Given the description of an element on the screen output the (x, y) to click on. 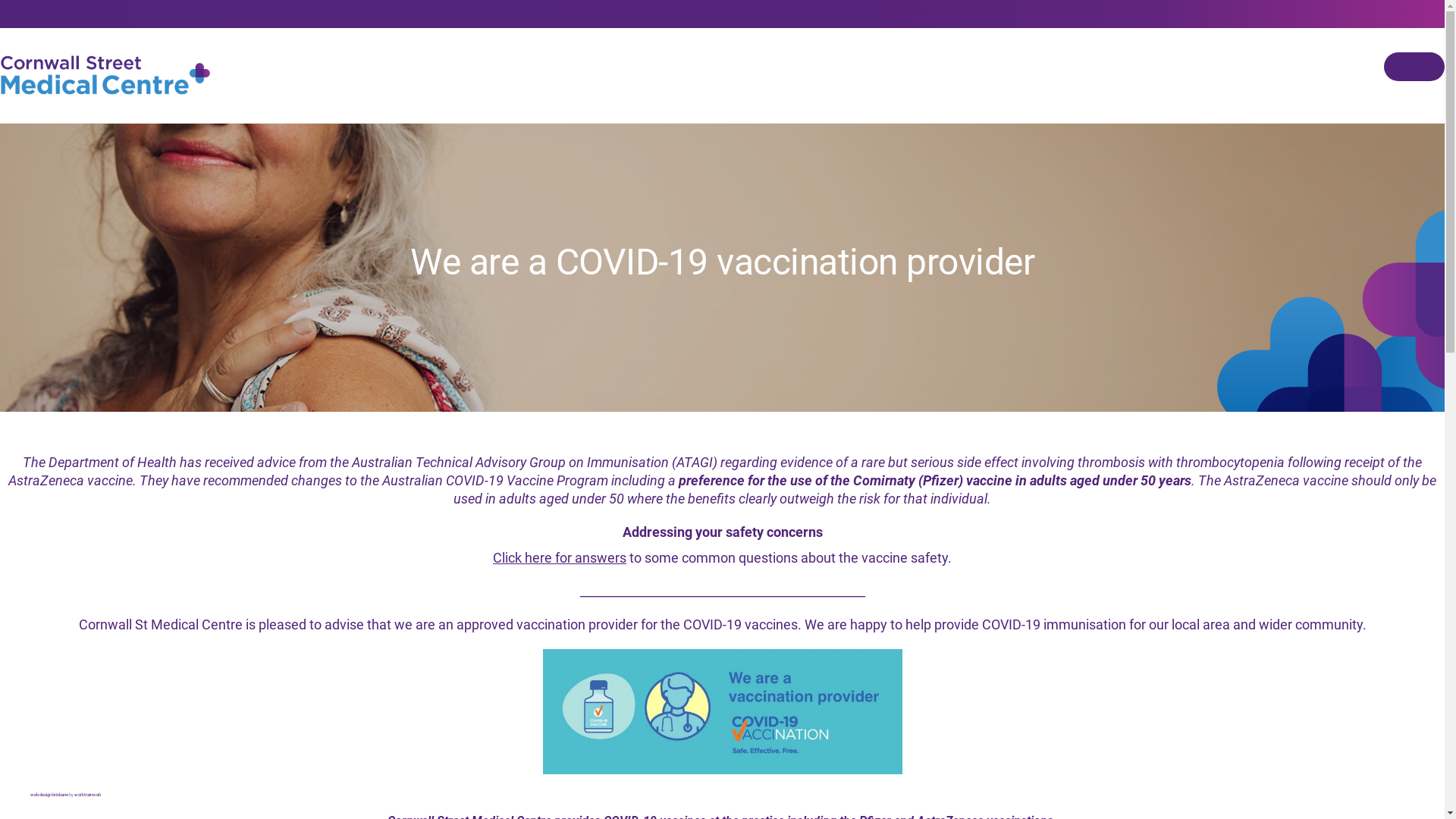
web design brisbane Element type: text (49, 794)
Cornwall Street Medical Centre Element type: hover (106, 73)
worktrainweb Element type: text (87, 794)
Click here for answers Element type: text (559, 557)
